Given the description of an element on the screen output the (x, y) to click on. 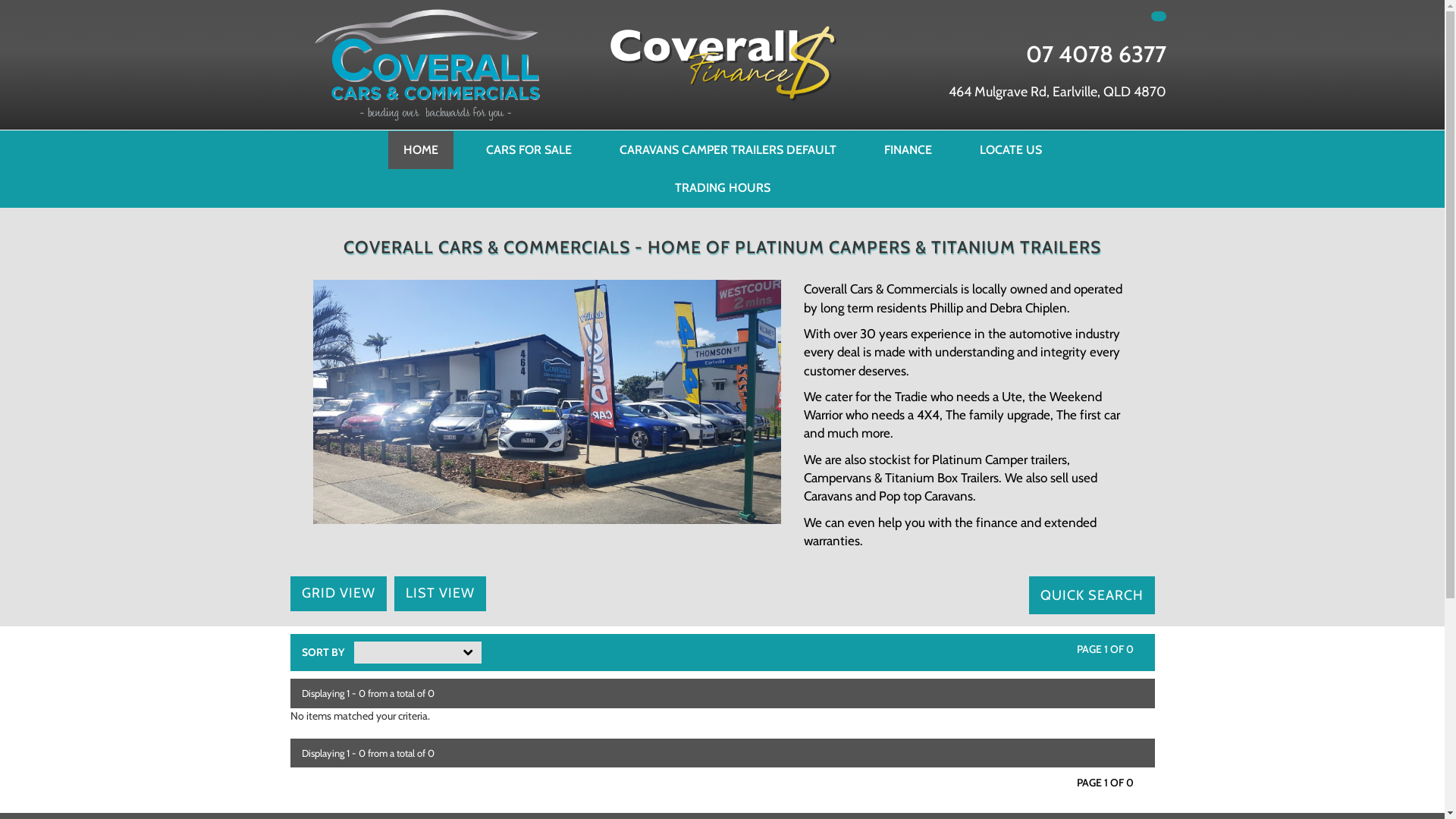
TRADING HOURS Element type: text (722, 188)
GRID VIEW Element type: text (337, 593)
464 Mulgrave Rd, Earlville, QLD 4870 Element type: text (1056, 92)
HOME Element type: text (420, 150)
CARS FOR SALE Element type: text (528, 150)
LIST VIEW Element type: text (440, 593)
FINANCE Element type: text (908, 150)
LOCATE US Element type: text (1010, 150)
QUICK SEARCH Element type: text (1091, 595)
07 4078 6377 Element type: text (1095, 54)
CARAVANS CAMPER TRAILERS DEFAULT Element type: text (726, 150)
